Given the description of an element on the screen output the (x, y) to click on. 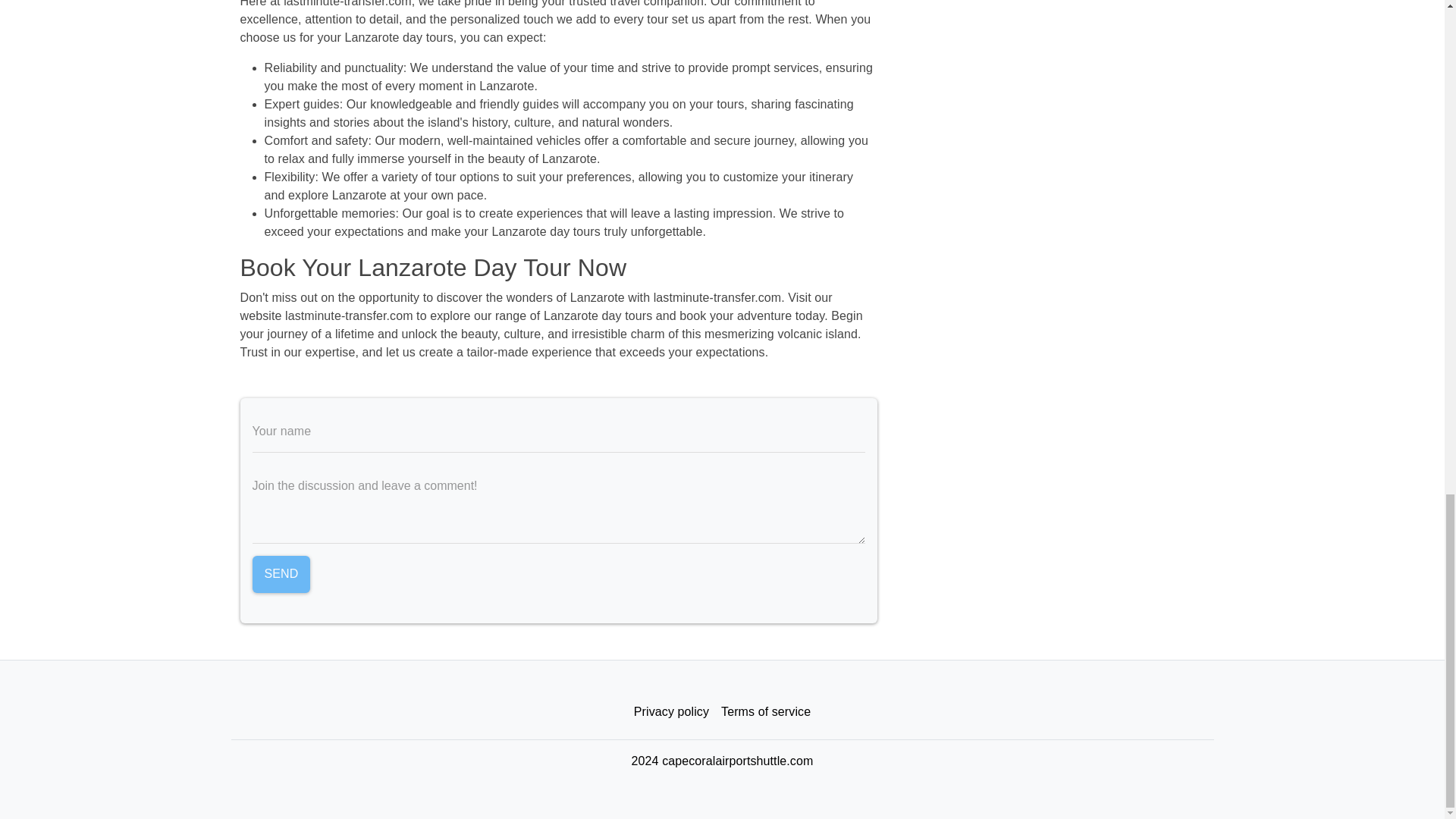
Send (280, 574)
Terms of service (765, 711)
Privacy policy (670, 711)
Send (280, 574)
